Given the description of an element on the screen output the (x, y) to click on. 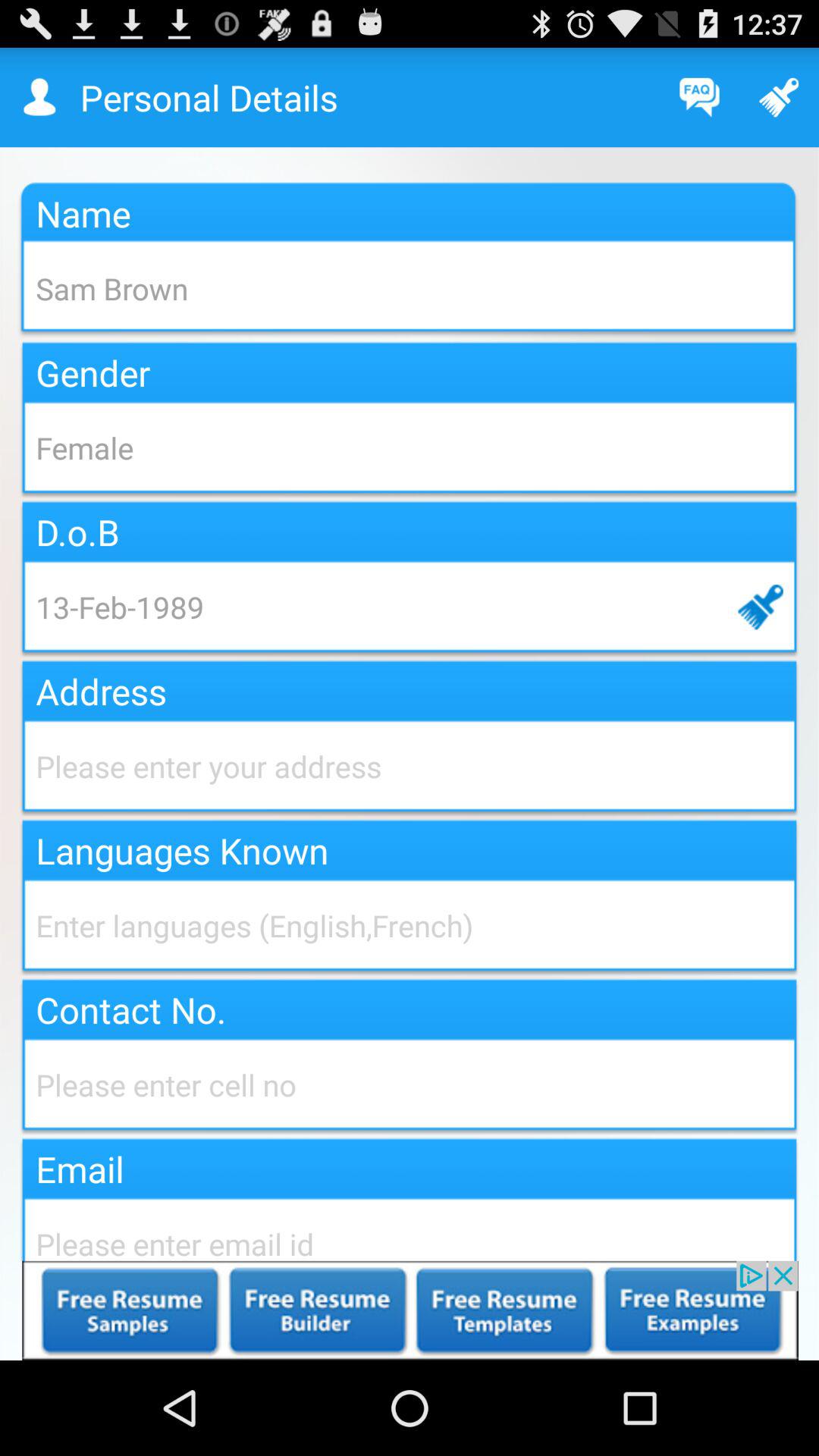
go to the advertisement page (409, 1310)
